Given the description of an element on the screen output the (x, y) to click on. 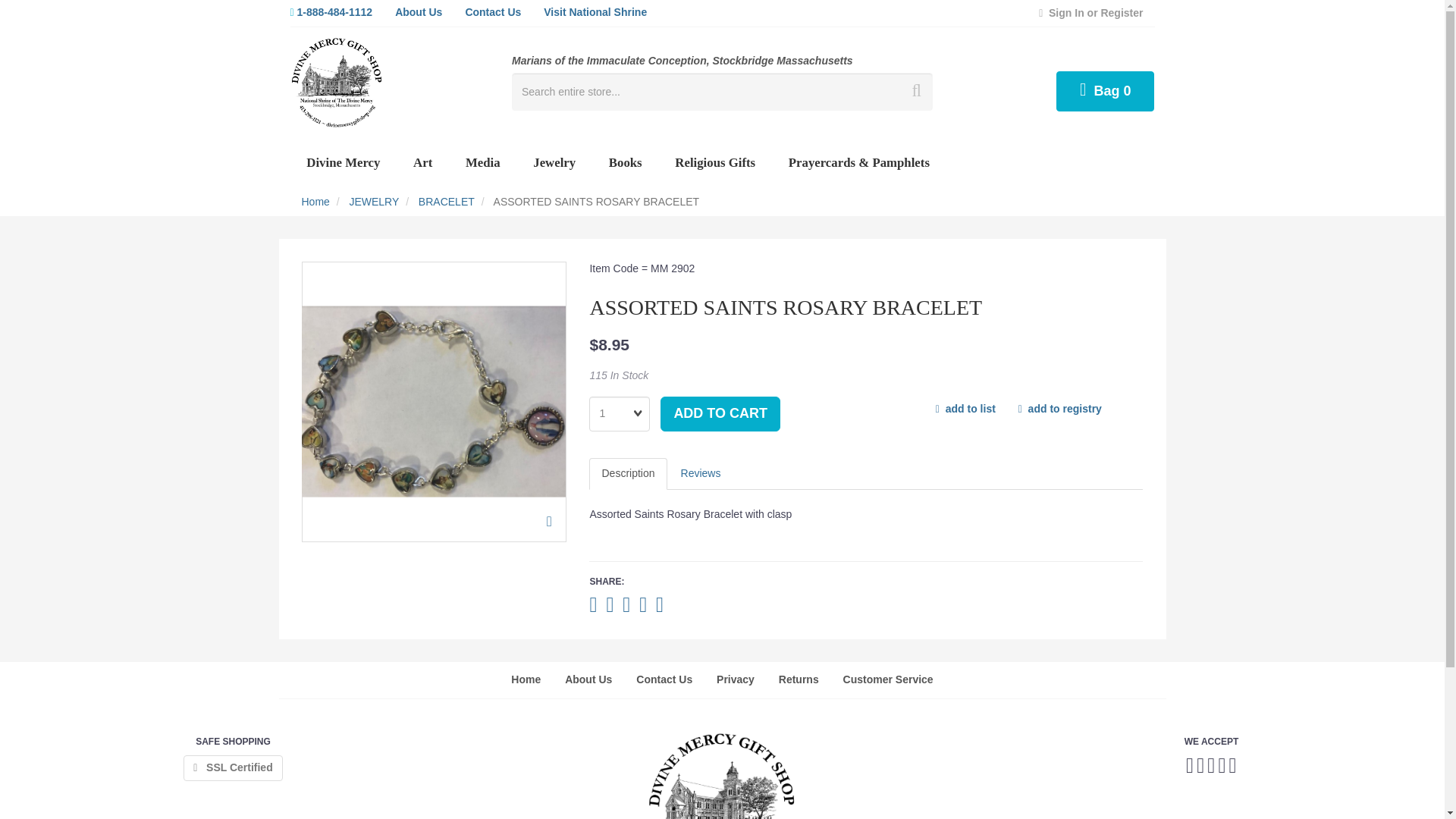
Go (914, 91)
About Us (418, 13)
  Sign In or Register (1090, 13)
Visit National Shrine (595, 13)
Contact Us (492, 13)
ASSORTED SAINTS ROSARY BRACELET (433, 401)
  Bag 0 (1105, 91)
